Given the description of an element on the screen output the (x, y) to click on. 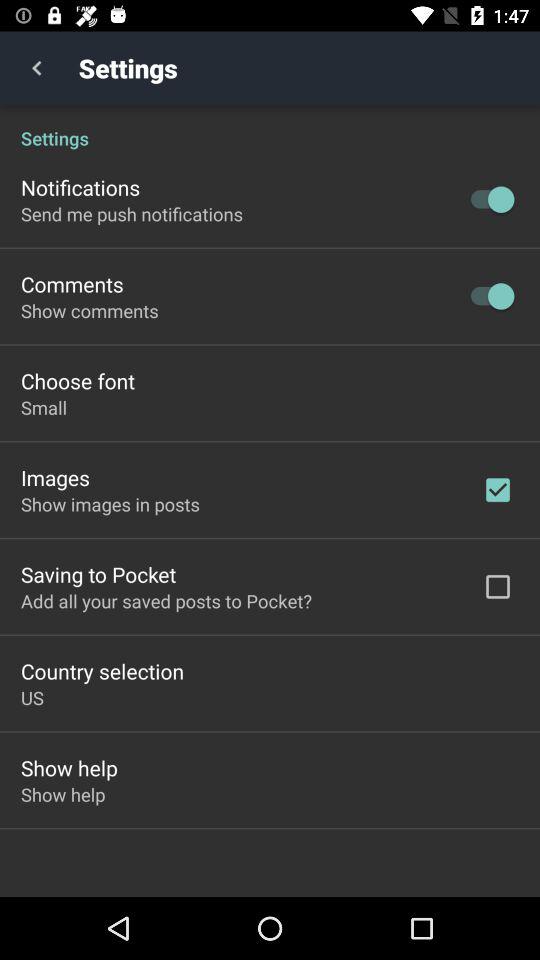
select the icon below the images (110, 503)
